Given the description of an element on the screen output the (x, y) to click on. 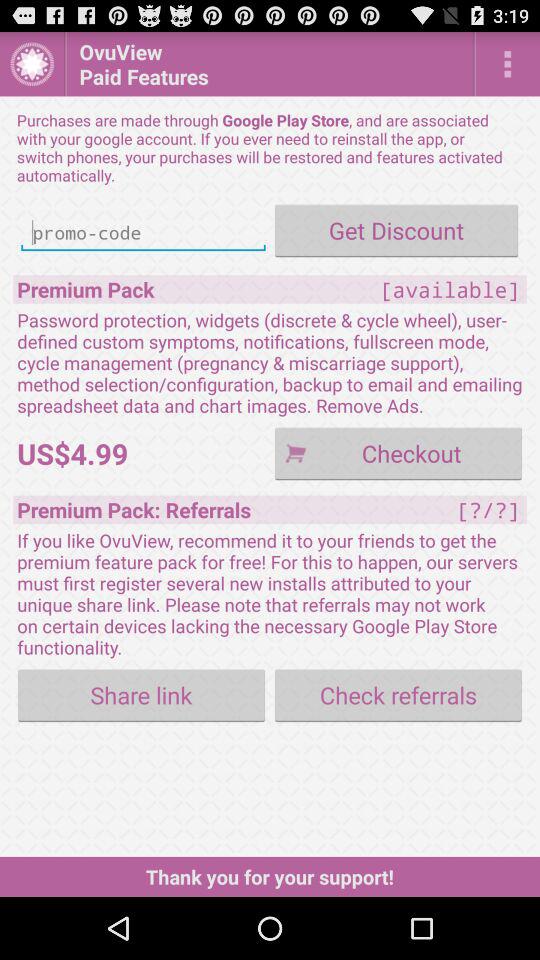
turn off the app above the purchases are made item (32, 63)
